Given the description of an element on the screen output the (x, y) to click on. 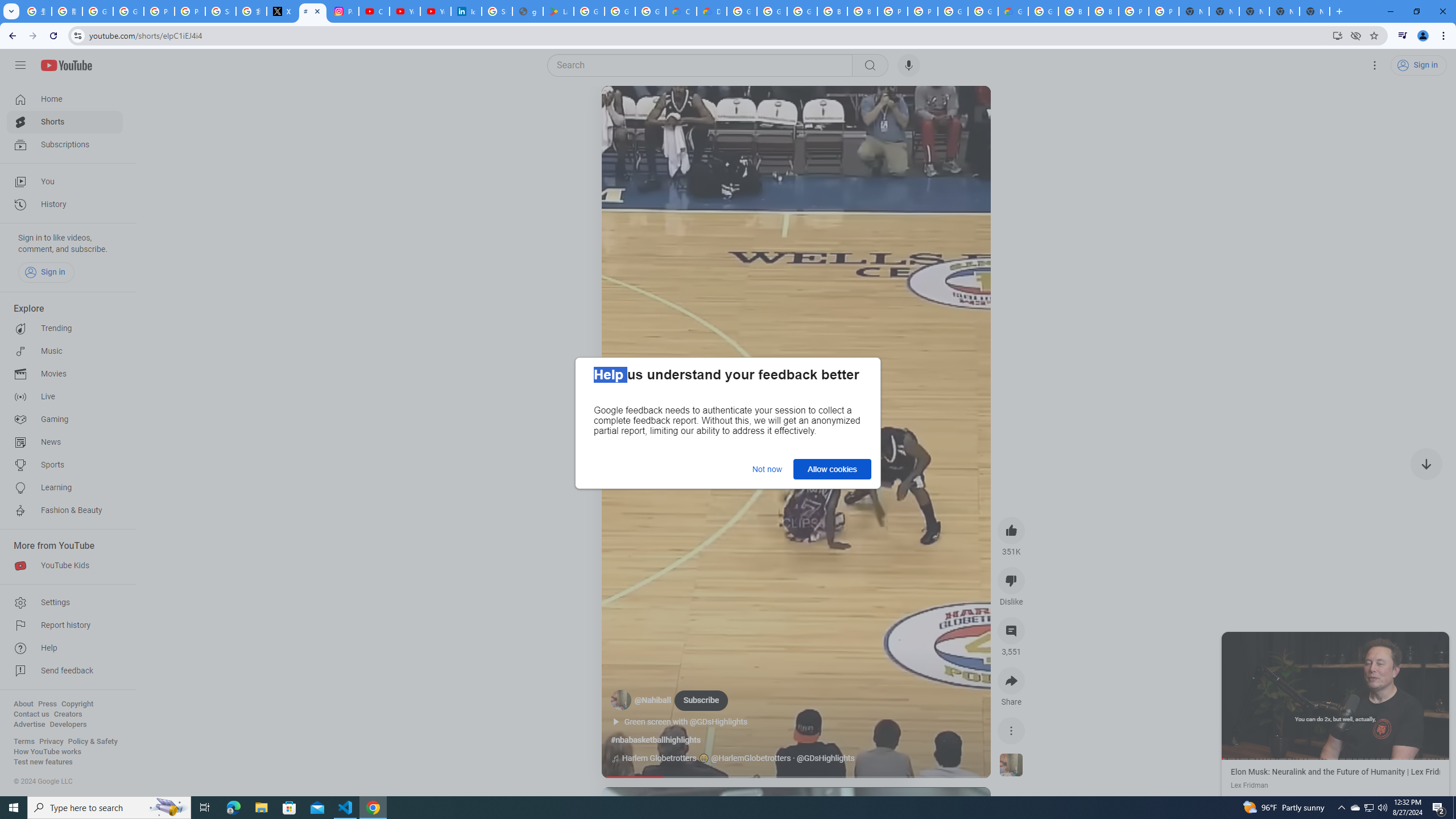
More actions (1011, 730)
See more videos using this sound (1011, 765)
Google Cloud Estimate Summary (1012, 11)
Search with your voice (908, 65)
History (64, 204)
Music (64, 350)
How YouTube works (47, 751)
View 3,551 comments (1011, 630)
Seek slider (796, 776)
Mute (657, 108)
